Given the description of an element on the screen output the (x, y) to click on. 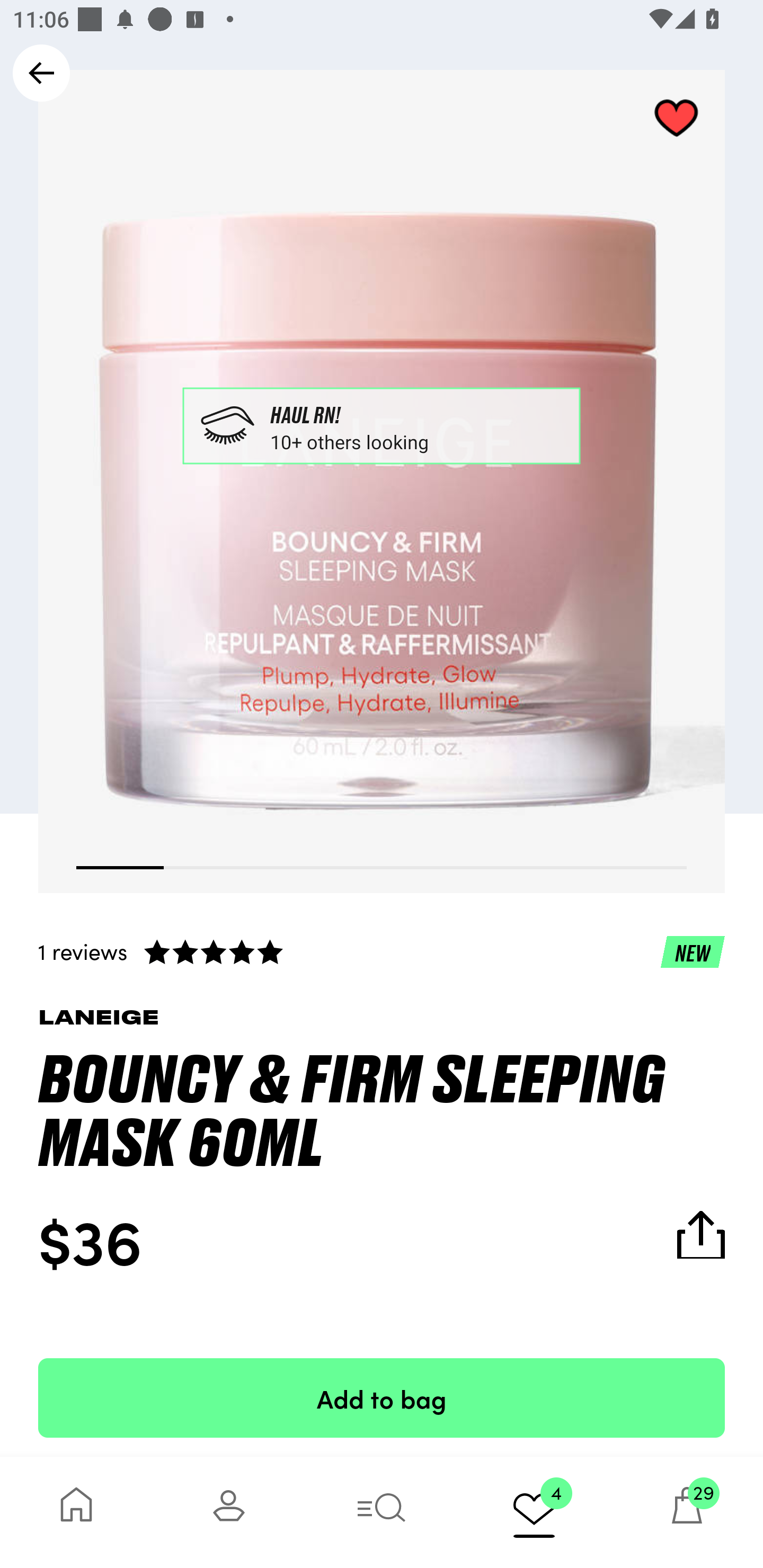
1 reviews (381, 950)
Add to bag (381, 1397)
4 (533, 1512)
29 (686, 1512)
